Given the description of an element on the screen output the (x, y) to click on. 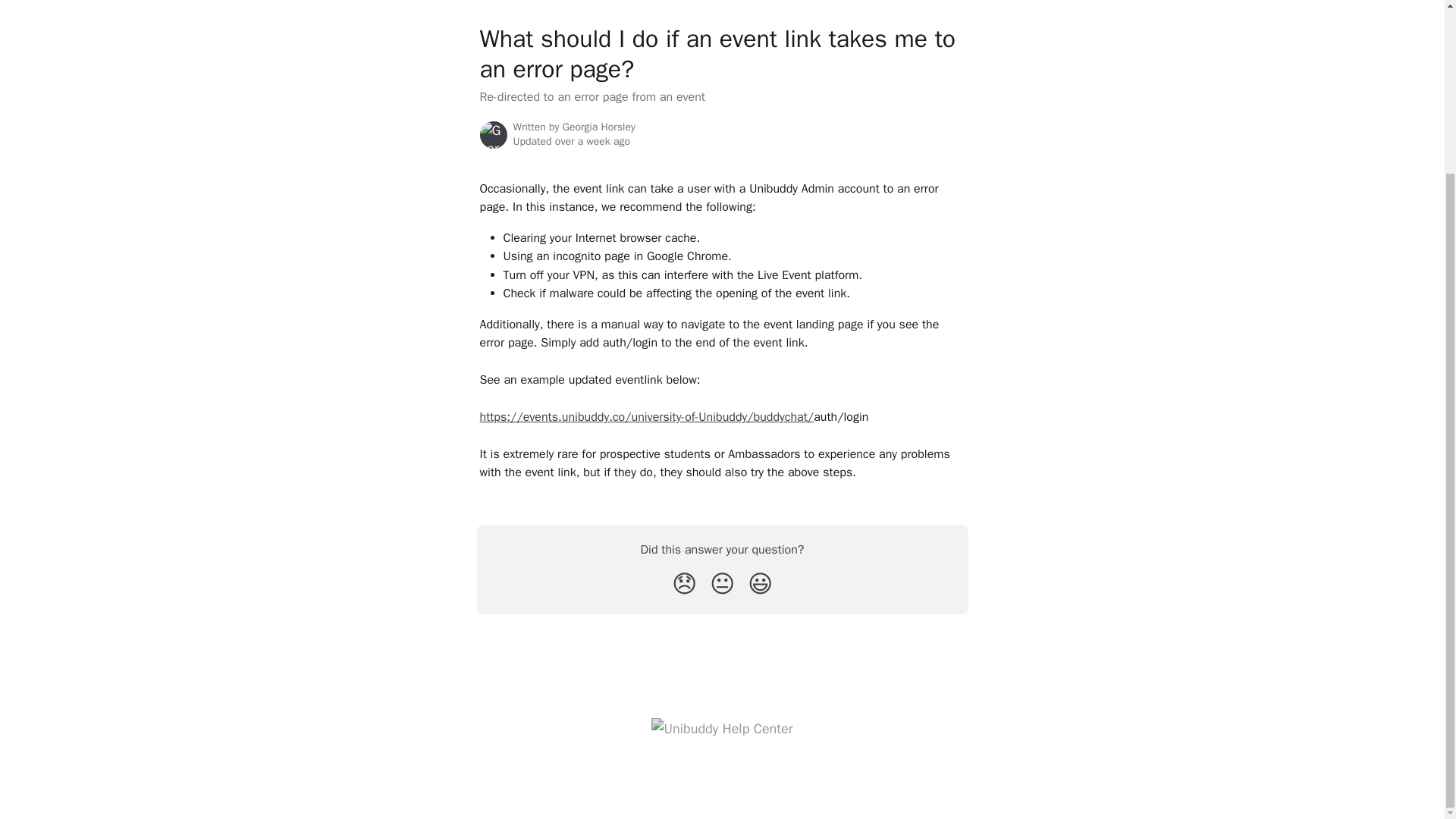
Neutral (722, 583)
Smiley (760, 583)
Disappointed (684, 583)
